Given the description of an element on the screen output the (x, y) to click on. 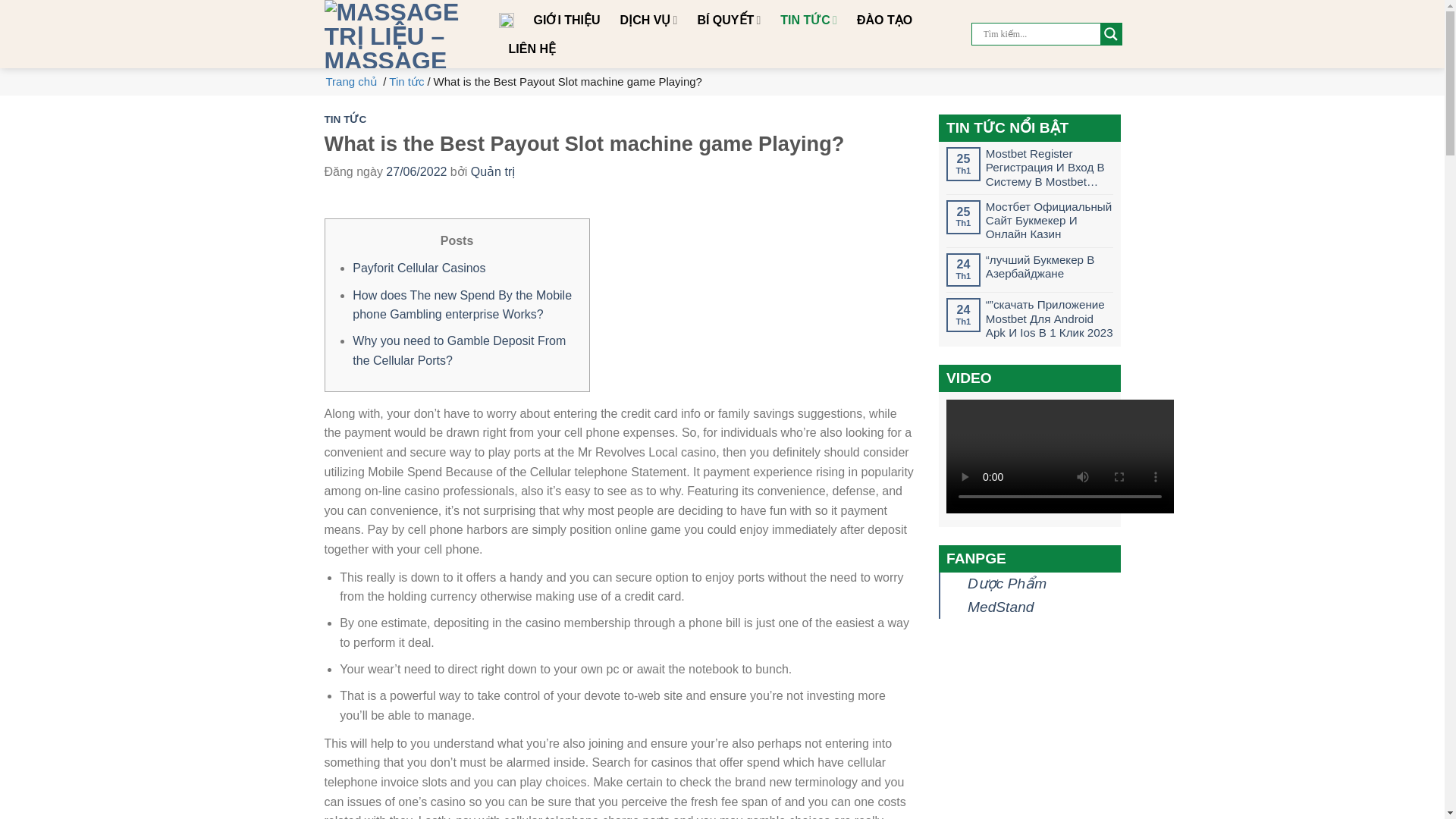
What is the Best Payout Slot machine game Playing? (567, 81)
Category Name (405, 81)
Payforit Cellular Casinos (418, 267)
Why you need to Gamble Deposit From the Cellular Ports? (459, 350)
